Given the description of an element on the screen output the (x, y) to click on. 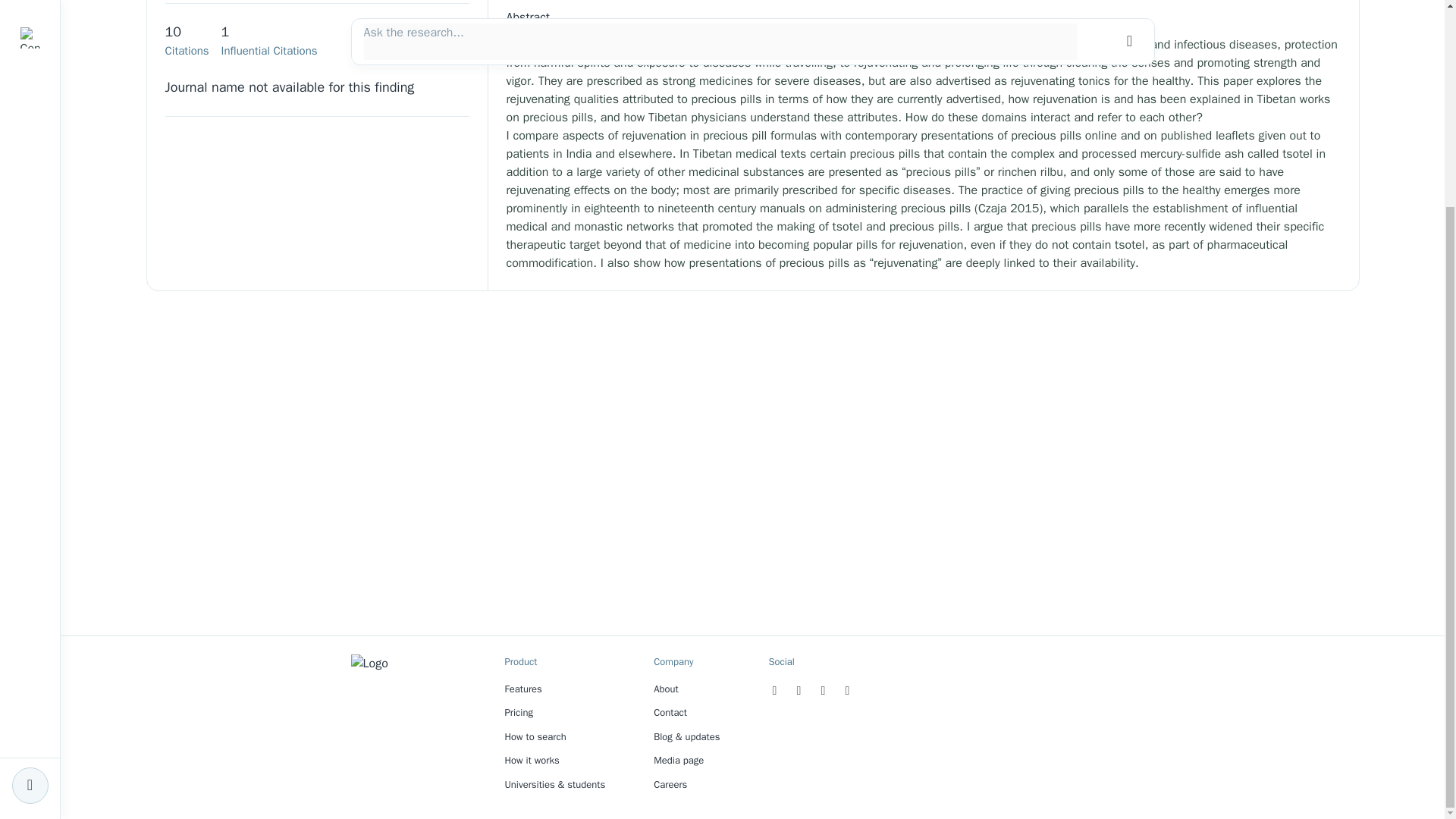
Features (523, 688)
How to search (535, 735)
Careers (670, 784)
Contact (670, 712)
Pricing (518, 712)
Media page (678, 759)
How it works (532, 759)
About (665, 688)
